Given the description of an element on the screen output the (x, y) to click on. 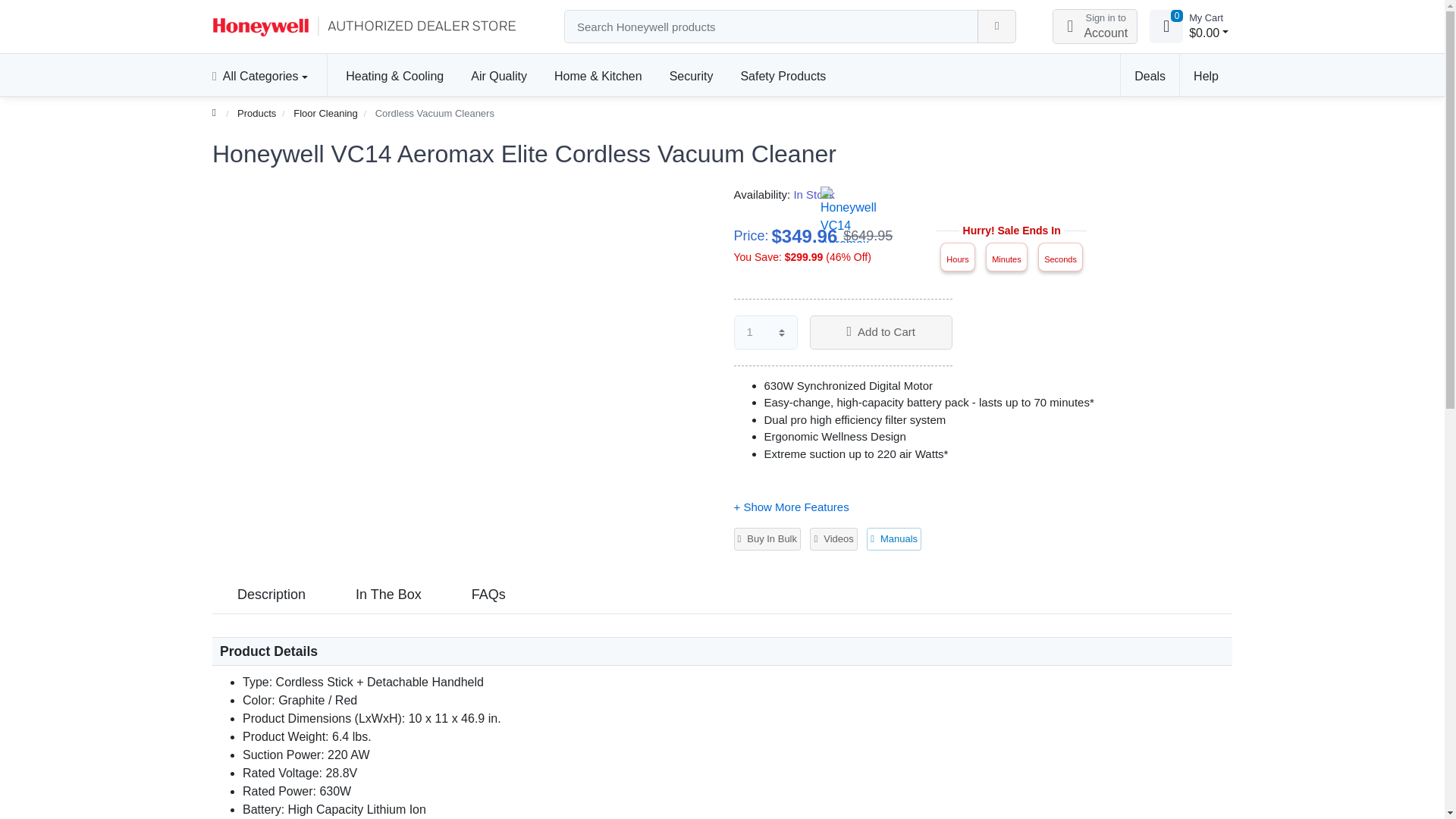
0 (1166, 26)
All Categories (266, 75)
